Given the description of an element on the screen output the (x, y) to click on. 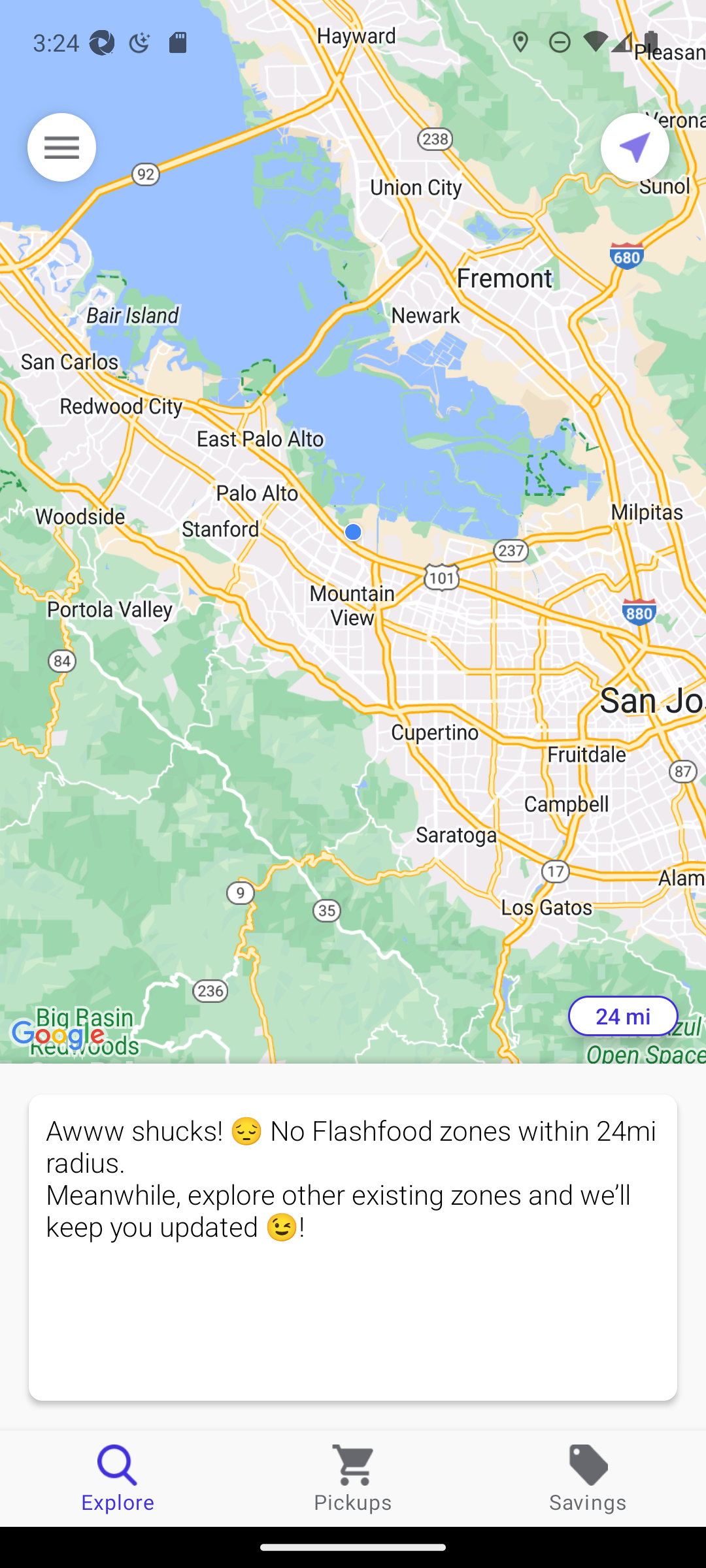
Menu (61, 146)
Current location (634, 146)
24 mi (623, 1015)
Pickups (352, 1478)
Savings (588, 1478)
